Given the description of an element on the screen output the (x, y) to click on. 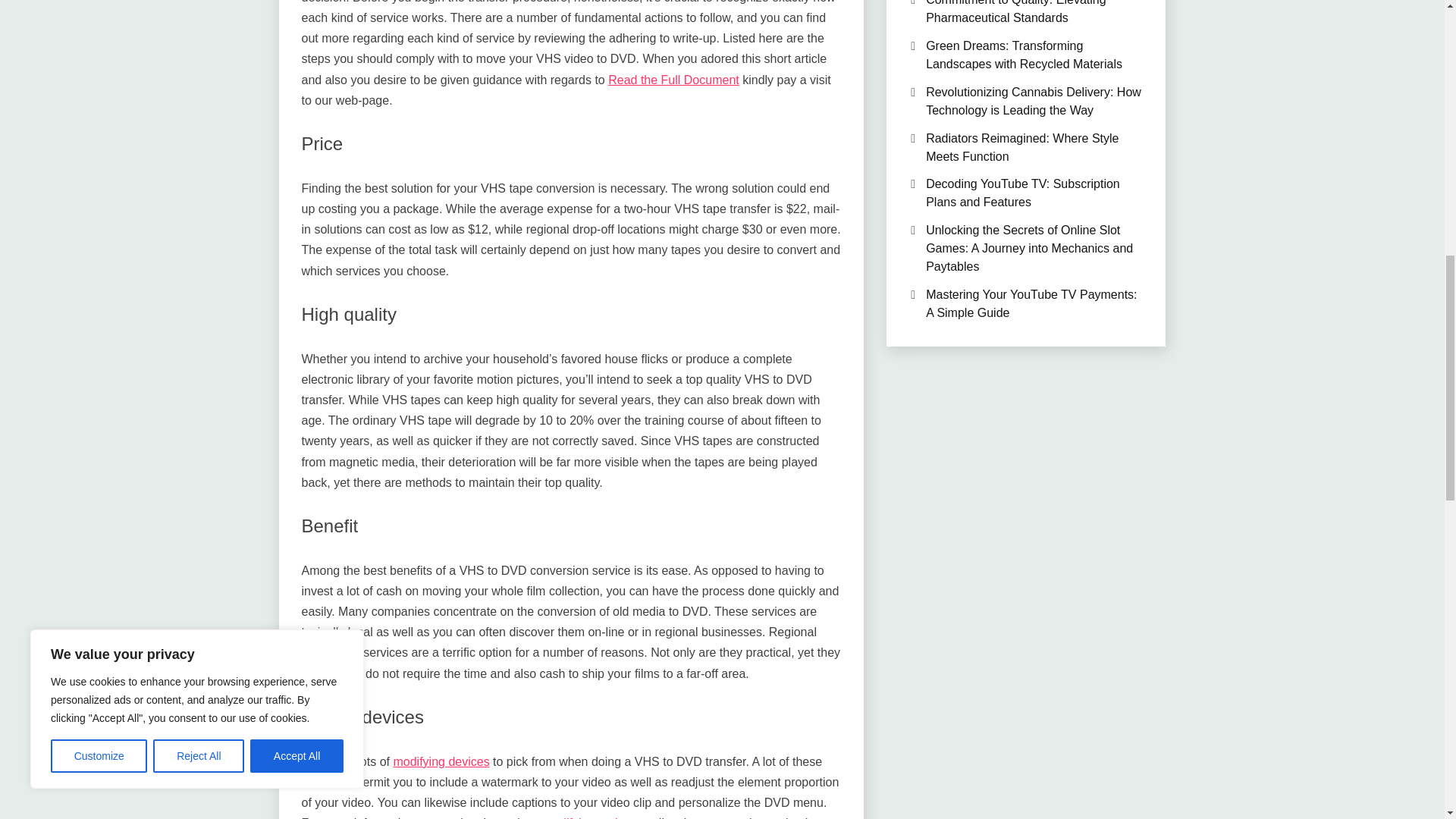
modifying devices (441, 761)
modifying tools (583, 817)
Read the Full Document (673, 79)
